Given the description of an element on the screen output the (x, y) to click on. 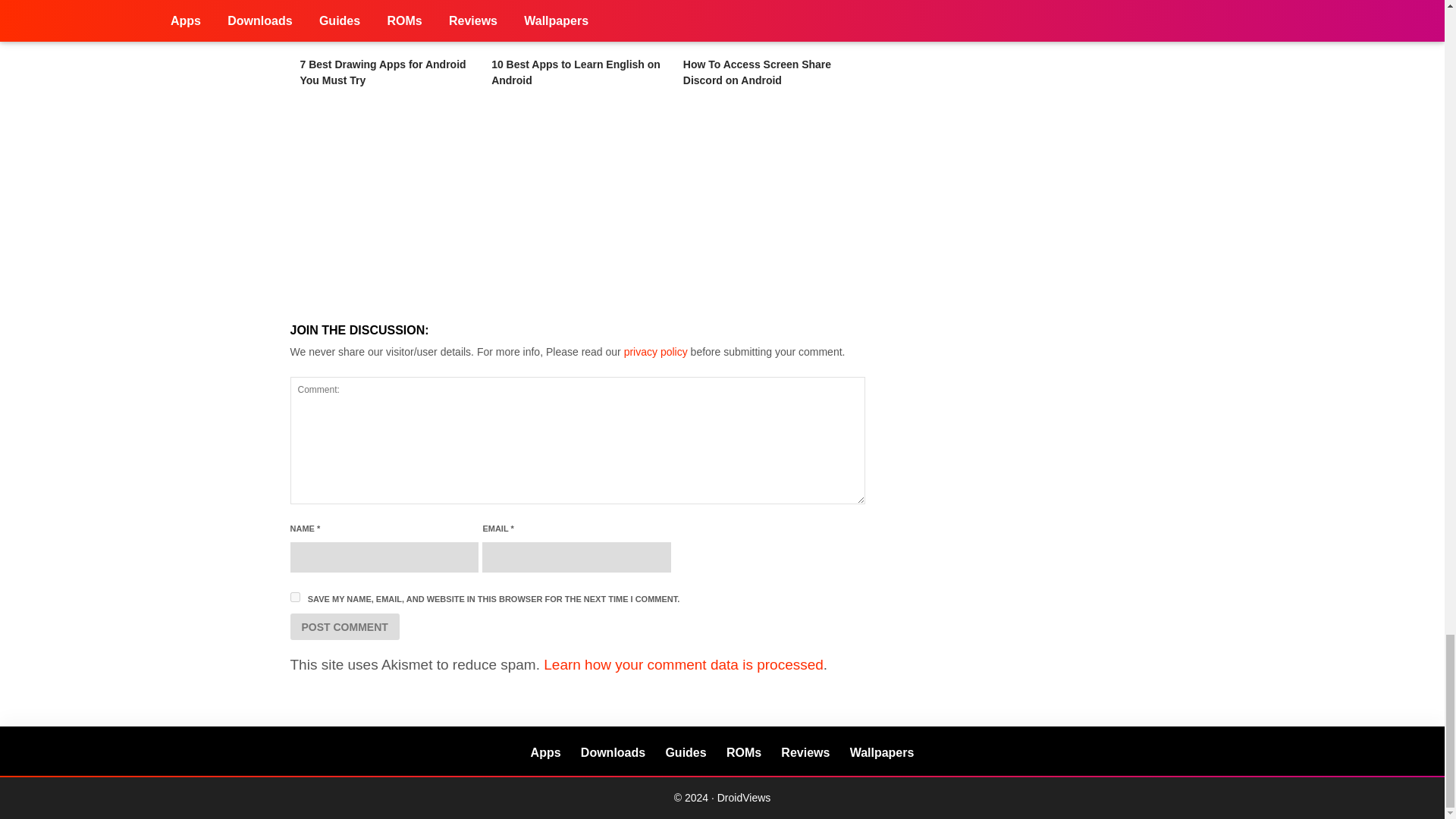
comment-policy-title (655, 351)
Post Comment (343, 626)
How To Access Screen Share Discord on Android (769, 25)
privacy policy (655, 351)
10 Best Apps to Learn English on Android (577, 25)
7 Best Drawing Apps for Android You Must Try (382, 72)
Post Comment (343, 626)
10 Best Apps to Learn English on Android (576, 72)
yes (294, 596)
7 Best Drawing Apps for Android You Must Try (385, 25)
